Given the description of an element on the screen output the (x, y) to click on. 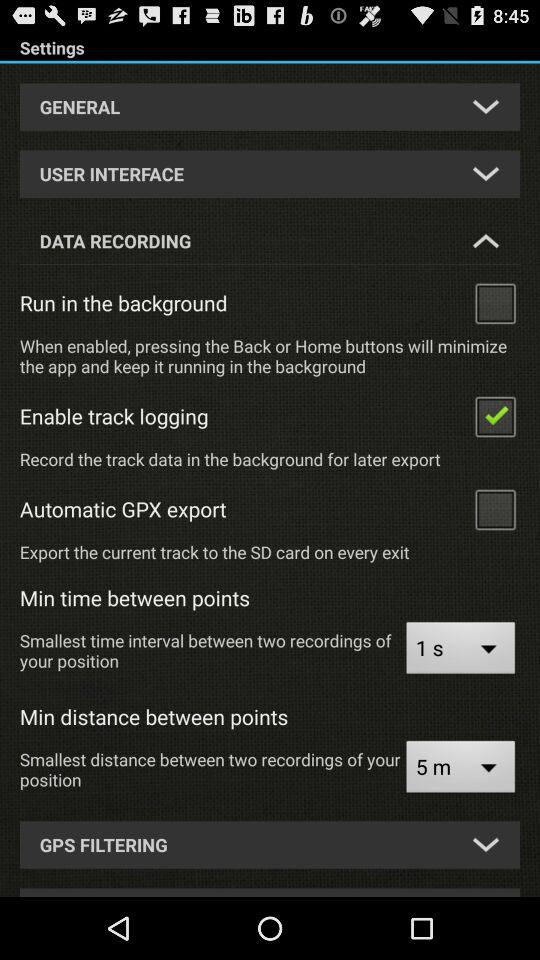
select the 5 m along with that complete box (460, 769)
click on the less button beside data recording (485, 240)
select the box right to automatic gpx export (494, 508)
